Given the description of an element on the screen output the (x, y) to click on. 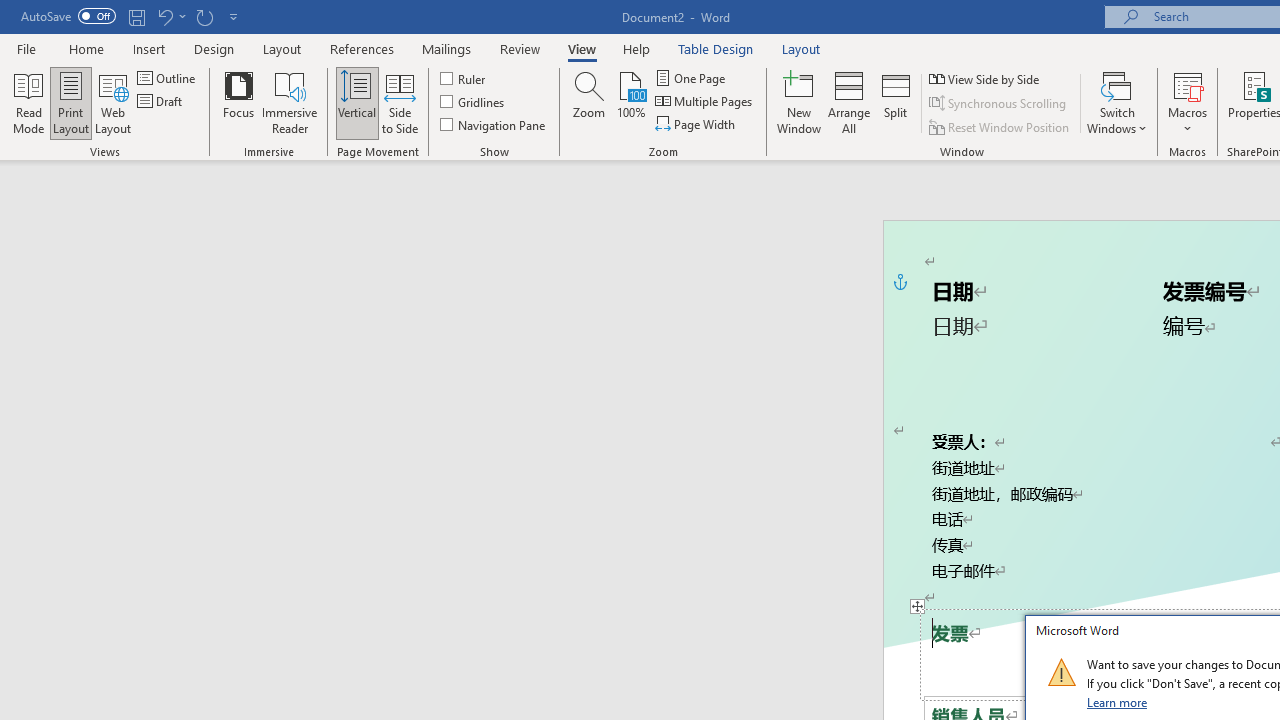
Focus (238, 102)
Macros (1187, 102)
Arrange All (848, 102)
